Given the description of an element on the screen output the (x, y) to click on. 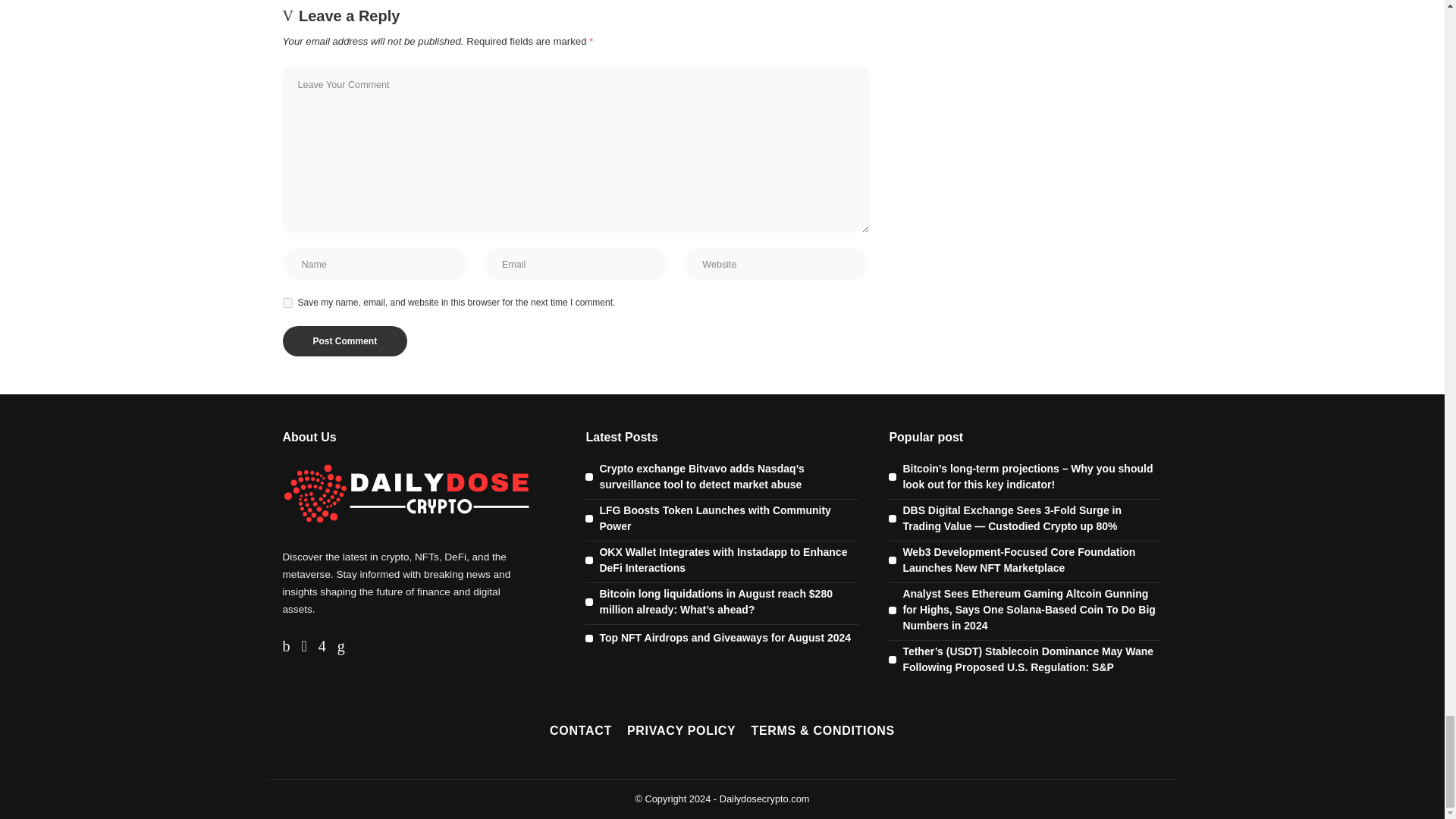
Post Comment (344, 340)
yes (287, 302)
